Given the description of an element on the screen output the (x, y) to click on. 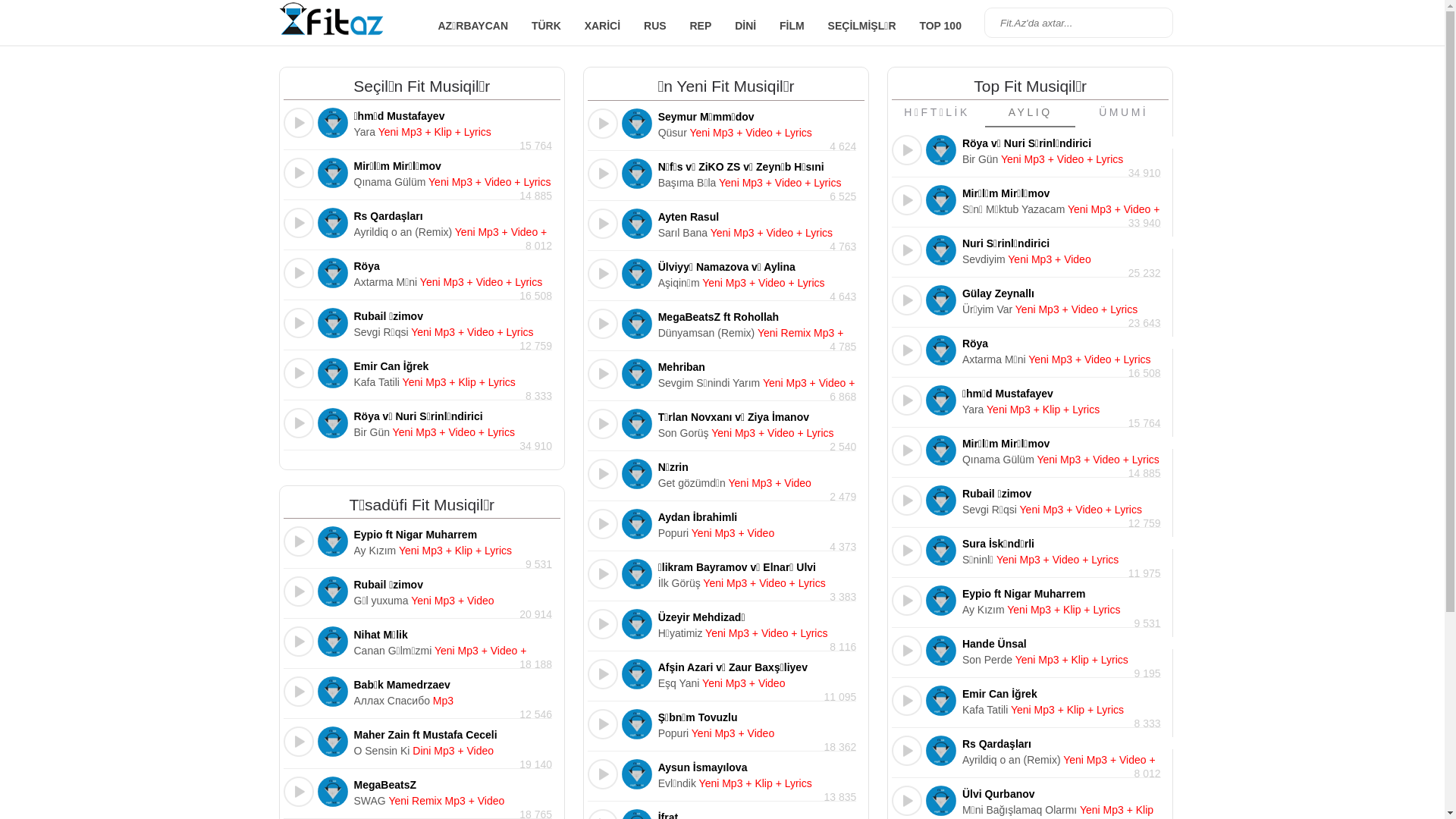
DINI Element type: text (745, 25)
FILM Element type: text (791, 25)
Axtar Element type: hover (1154, 22)
REP Element type: text (700, 25)
Maher Zain ft Mustafa Ceceli
O Sensin Ki Dini Mp3 + Video Element type: text (452, 741)
MegaBeatsZ
SWAG Yeni Remix Mp3 + Video Element type: text (452, 791)
TOP 100 Element type: text (940, 25)
XARICI Element type: text (602, 25)
RUS Element type: text (654, 25)
